Given the description of an element on the screen output the (x, y) to click on. 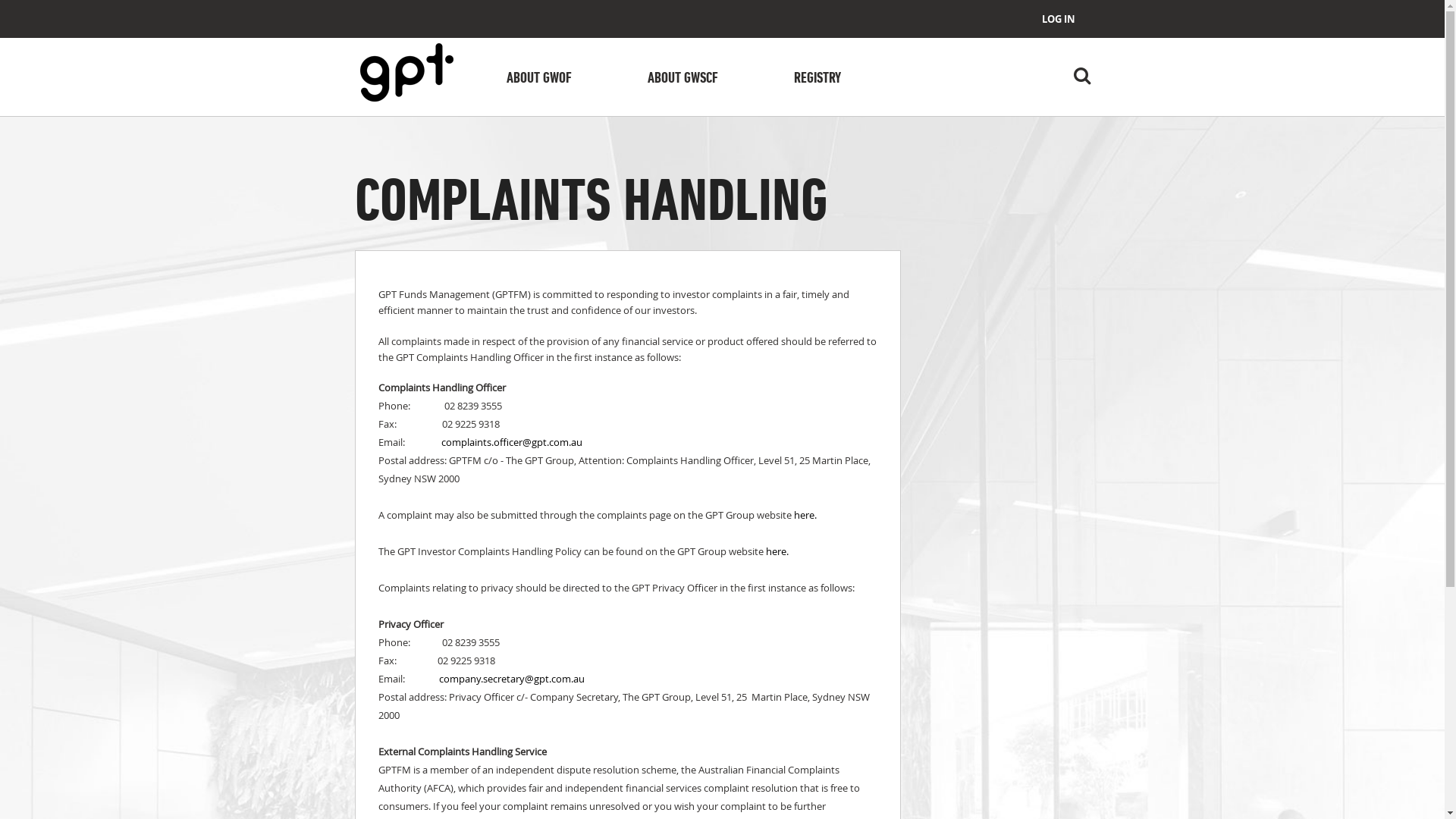
Home Element type: hover (406, 73)
here. Element type: text (776, 551)
ABOUT GWSCF Element type: text (682, 78)
LOG IN Element type: text (1058, 18)
here Element type: text (803, 514)
ABOUT GWOF Element type: text (538, 78)
  Element type: text (763, 551)
company.secretary@gpt.com.au Element type: text (510, 678)
REGISTRY Element type: text (816, 78)
complaints.officer@gpt.com.au Element type: text (511, 441)
